Given the description of an element on the screen output the (x, y) to click on. 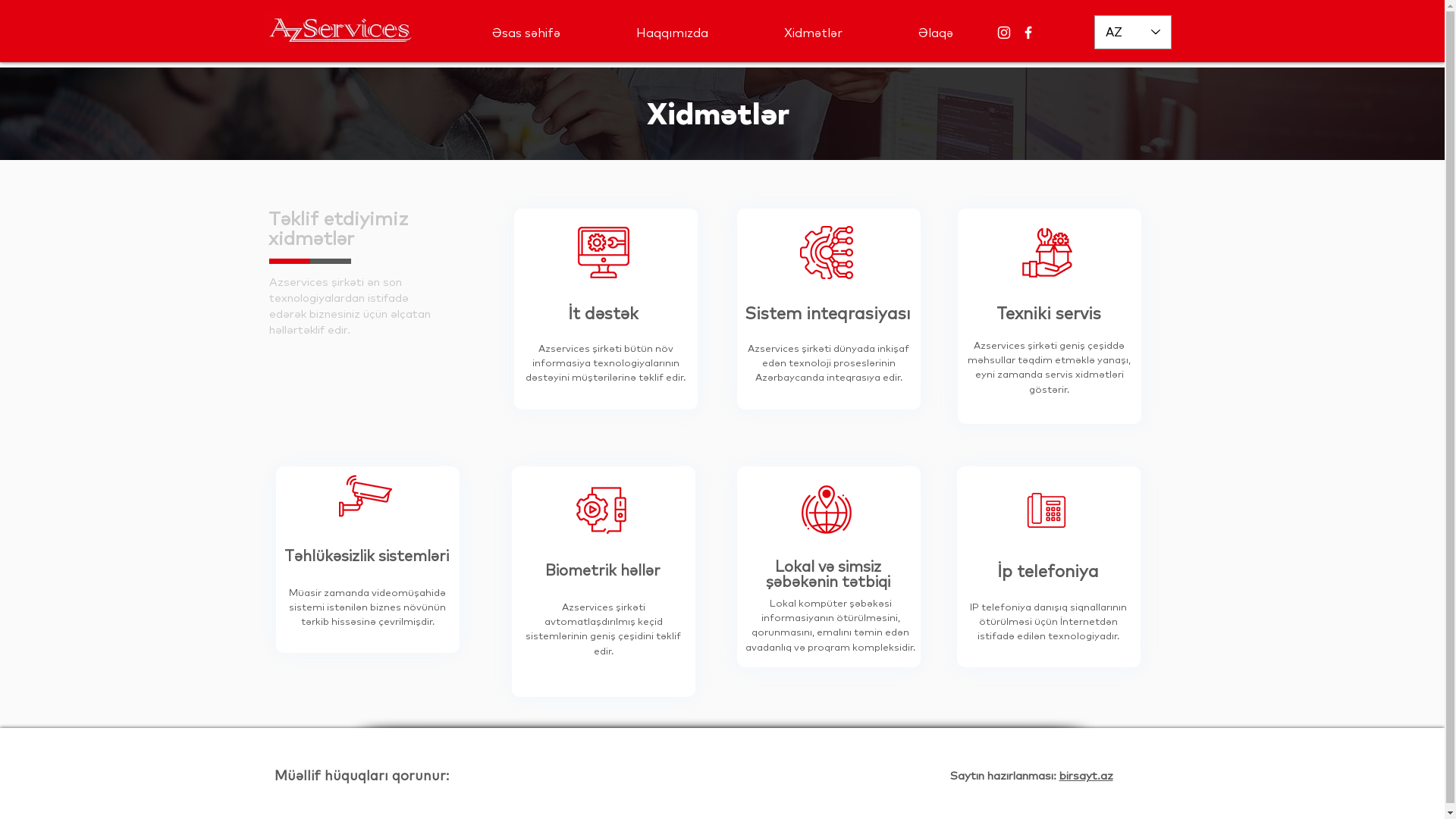
birsayt.az Element type: text (1085, 775)
